Given the description of an element on the screen output the (x, y) to click on. 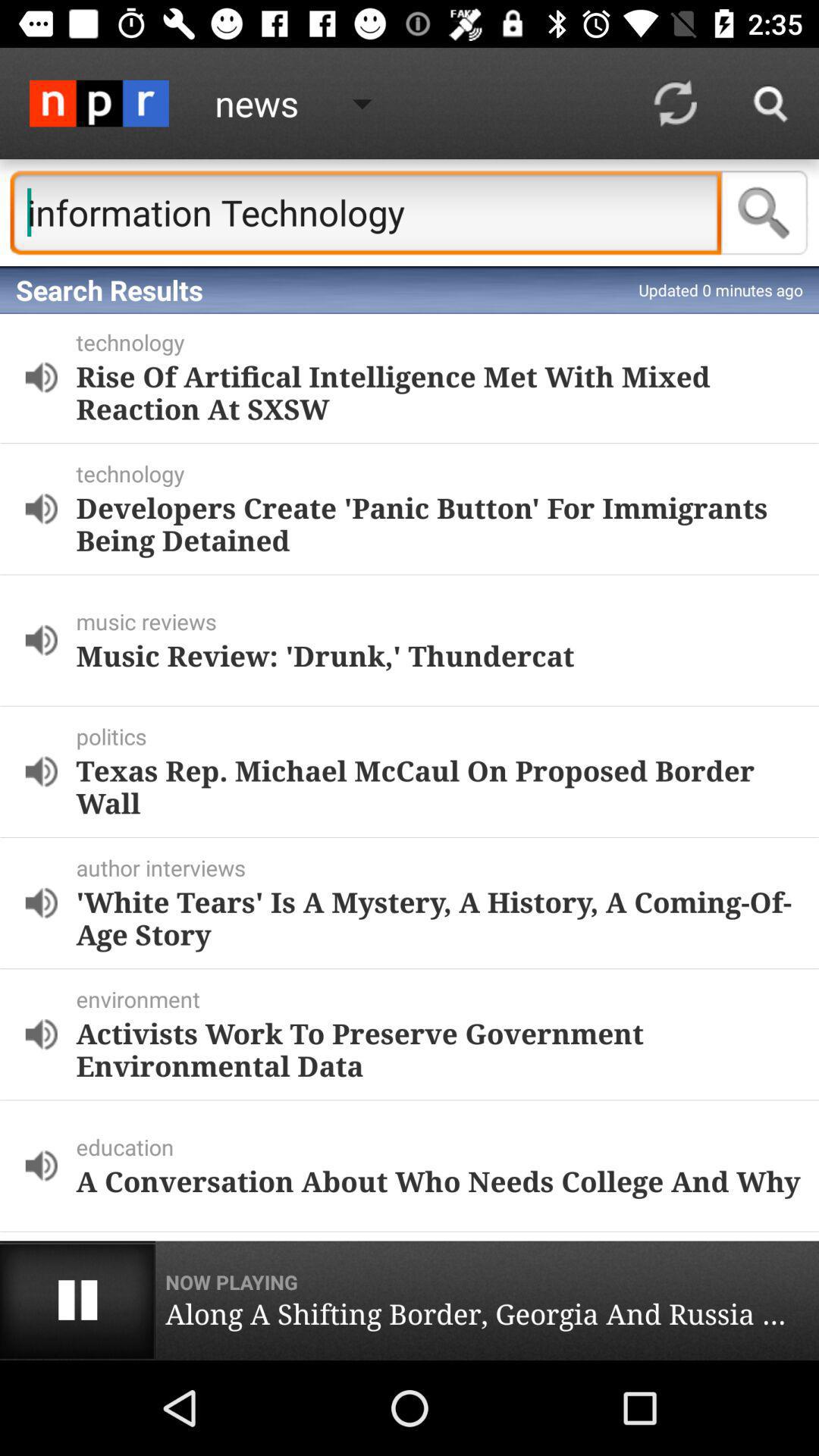
jump to the music reviews icon (444, 621)
